Given the description of an element on the screen output the (x, y) to click on. 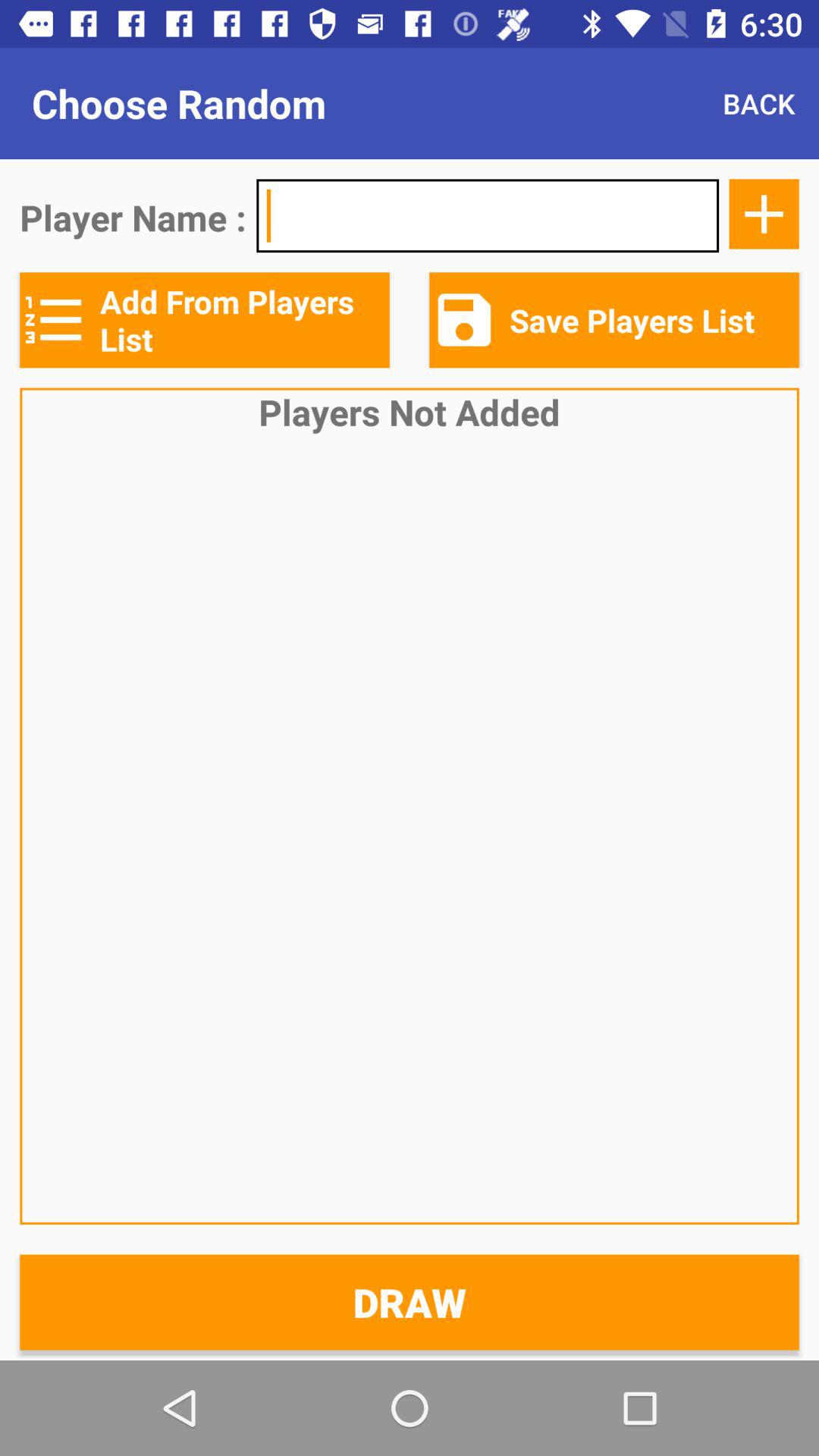
add a player name (764, 214)
